Given the description of an element on the screen output the (x, y) to click on. 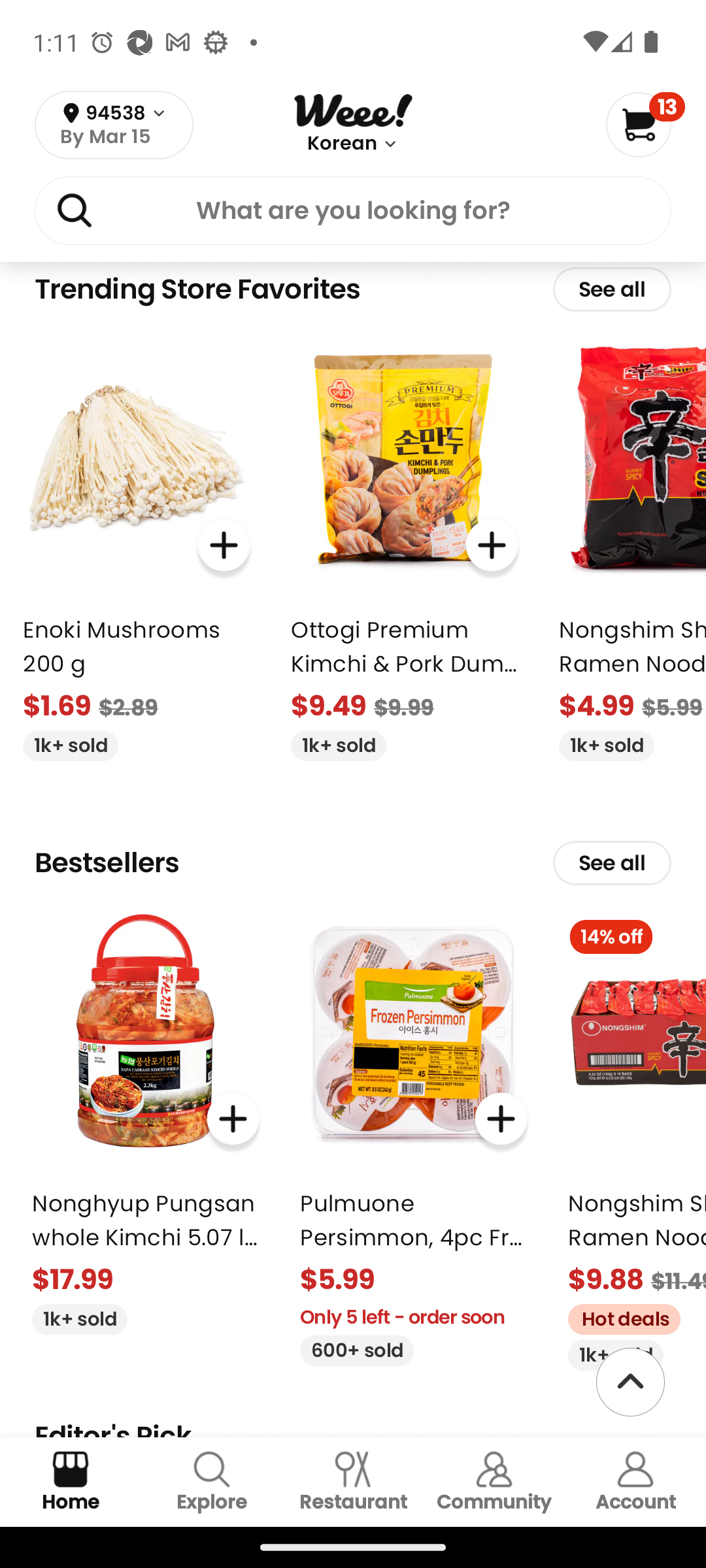
94538 By Mar 15 (113, 124)
13 (644, 124)
Korean (342, 143)
What are you looking for? (353, 213)
Enoki Mushrooms 200 g $1.69 $2.89 1k+ sold (136, 545)
Hot deals (617, 1316)
Home (70, 1482)
Explore (211, 1482)
Restaurant (352, 1482)
Community (493, 1482)
Account (635, 1482)
